Given the description of an element on the screen output the (x, y) to click on. 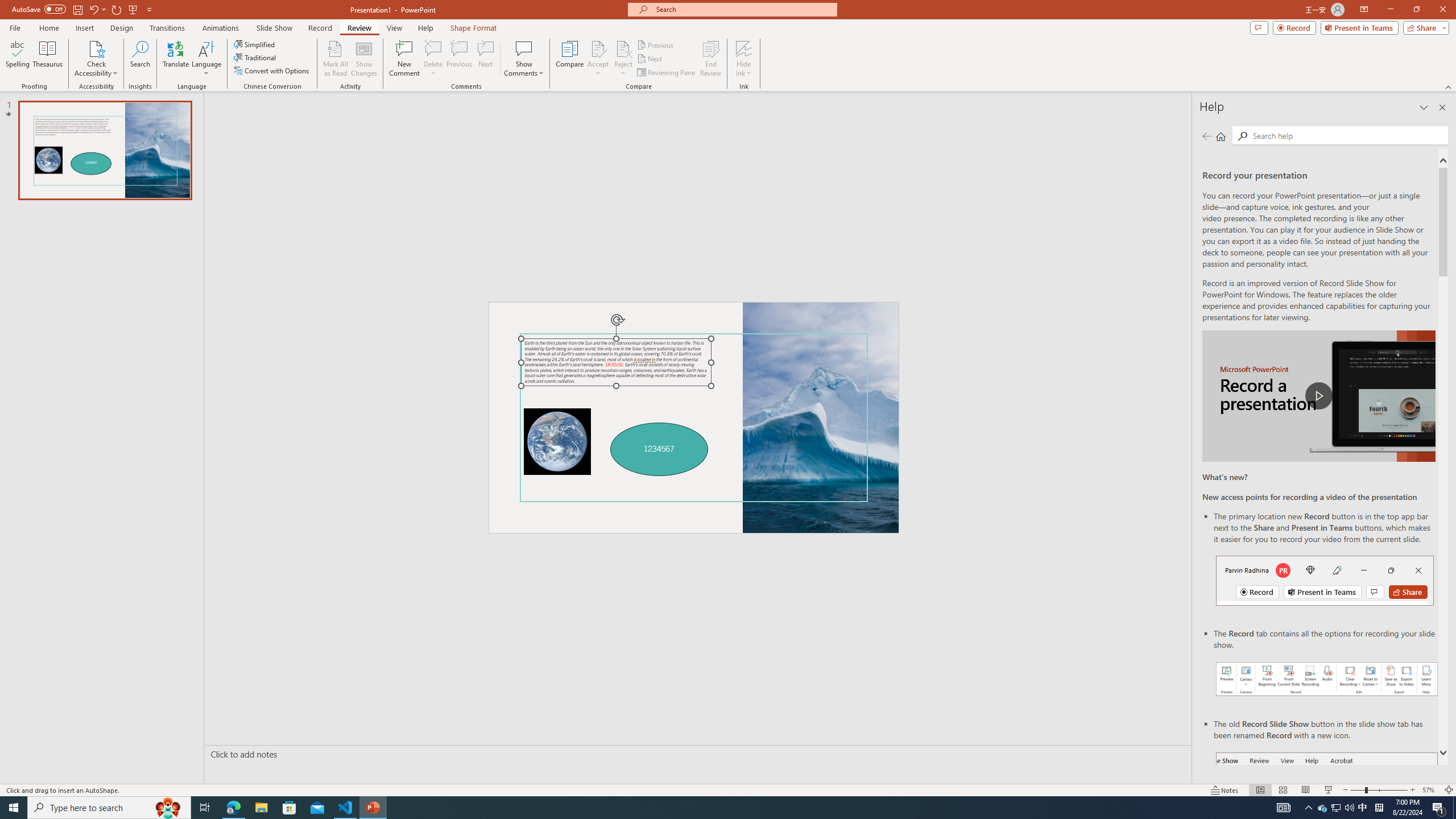
Mark All as Read (335, 58)
Hide Ink (743, 48)
Record your presentations screenshot one (1326, 678)
Show Comments (524, 58)
Next (649, 58)
Accept (598, 58)
New Comment (403, 58)
Accept Change (598, 48)
Language (206, 58)
